Given the description of an element on the screen output the (x, y) to click on. 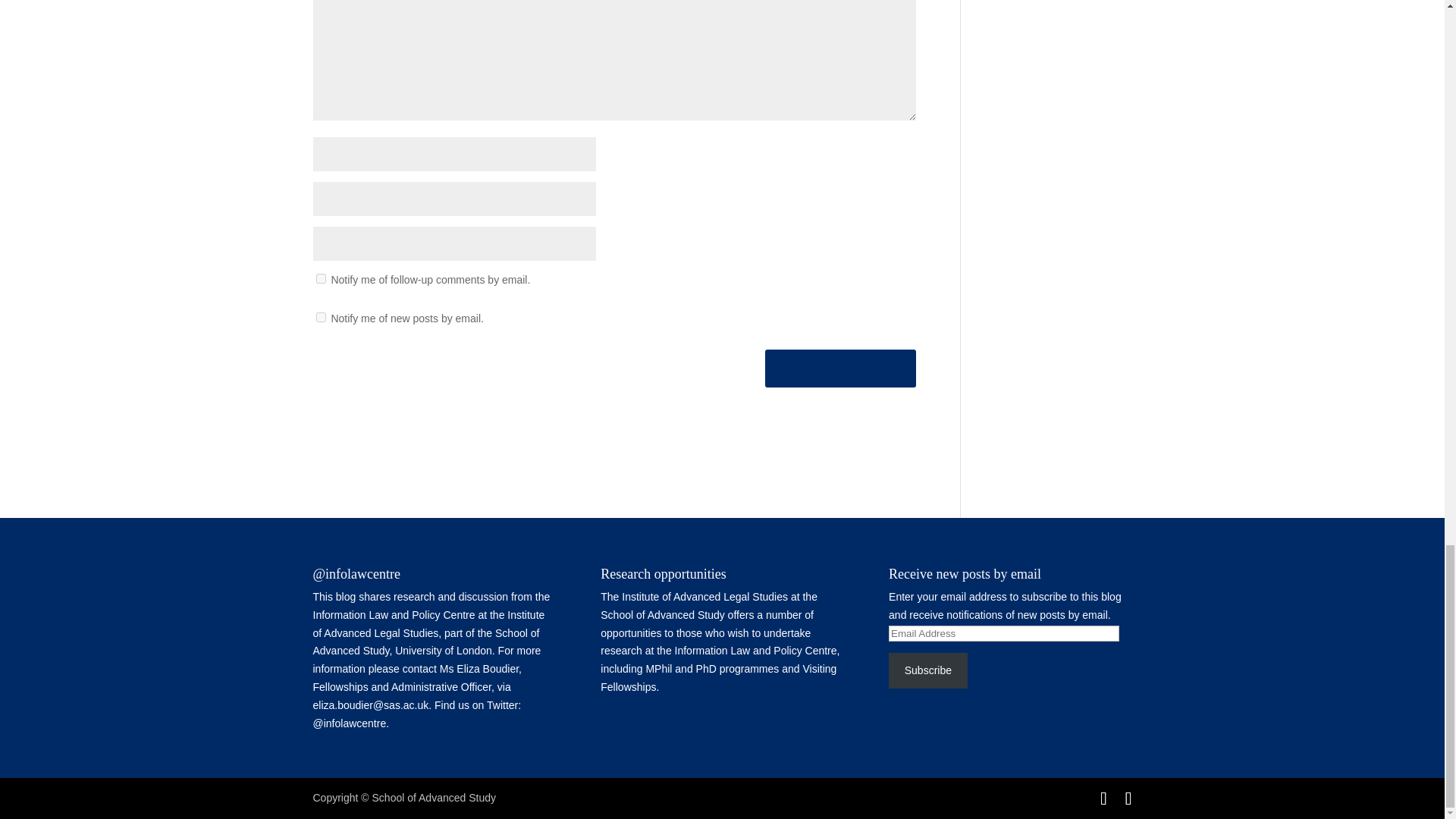
subscribe (319, 278)
subscribe (319, 317)
Submit Comment (840, 368)
